Given the description of an element on the screen output the (x, y) to click on. 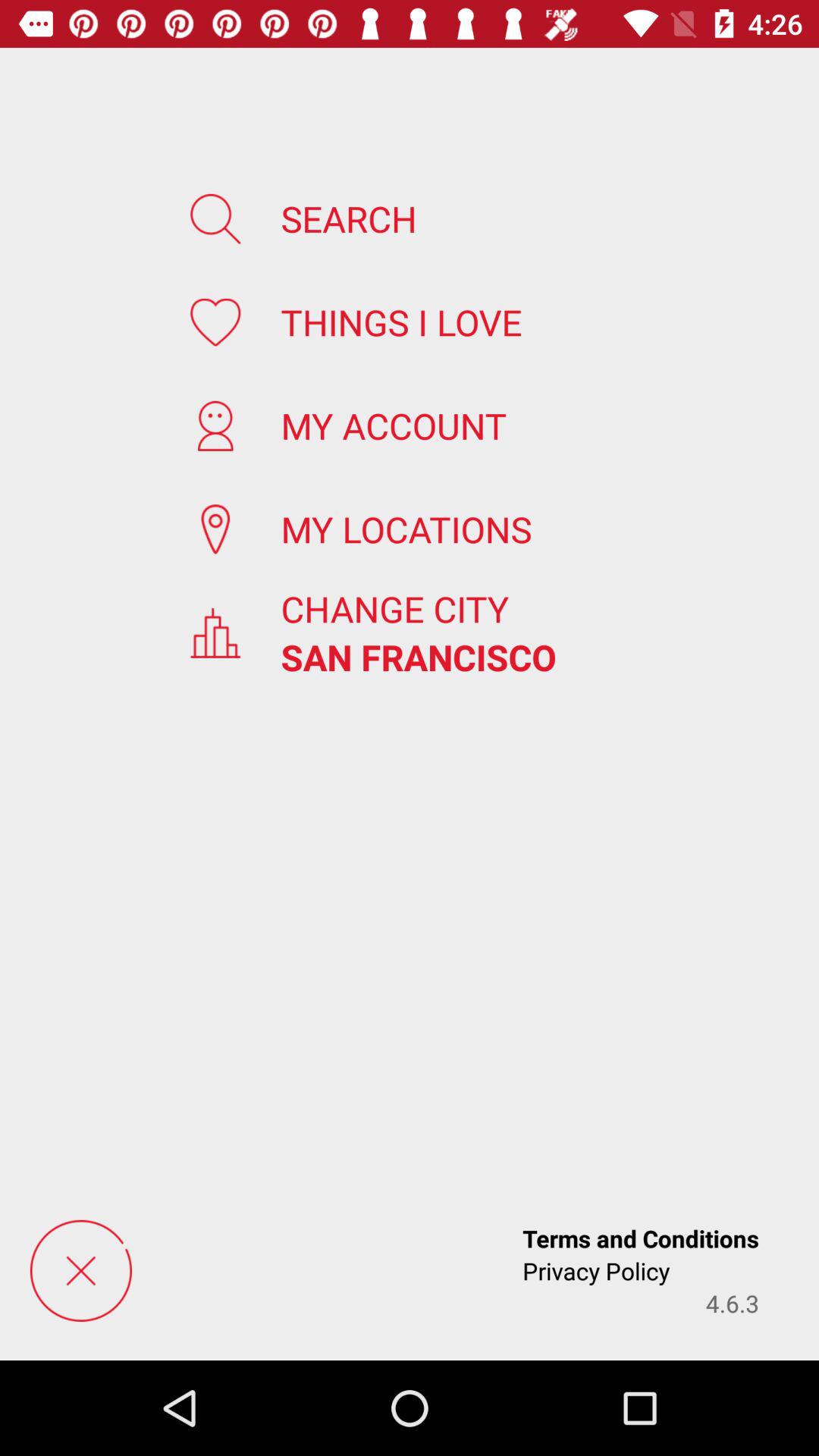
launch things i love app (401, 322)
